Given the description of an element on the screen output the (x, y) to click on. 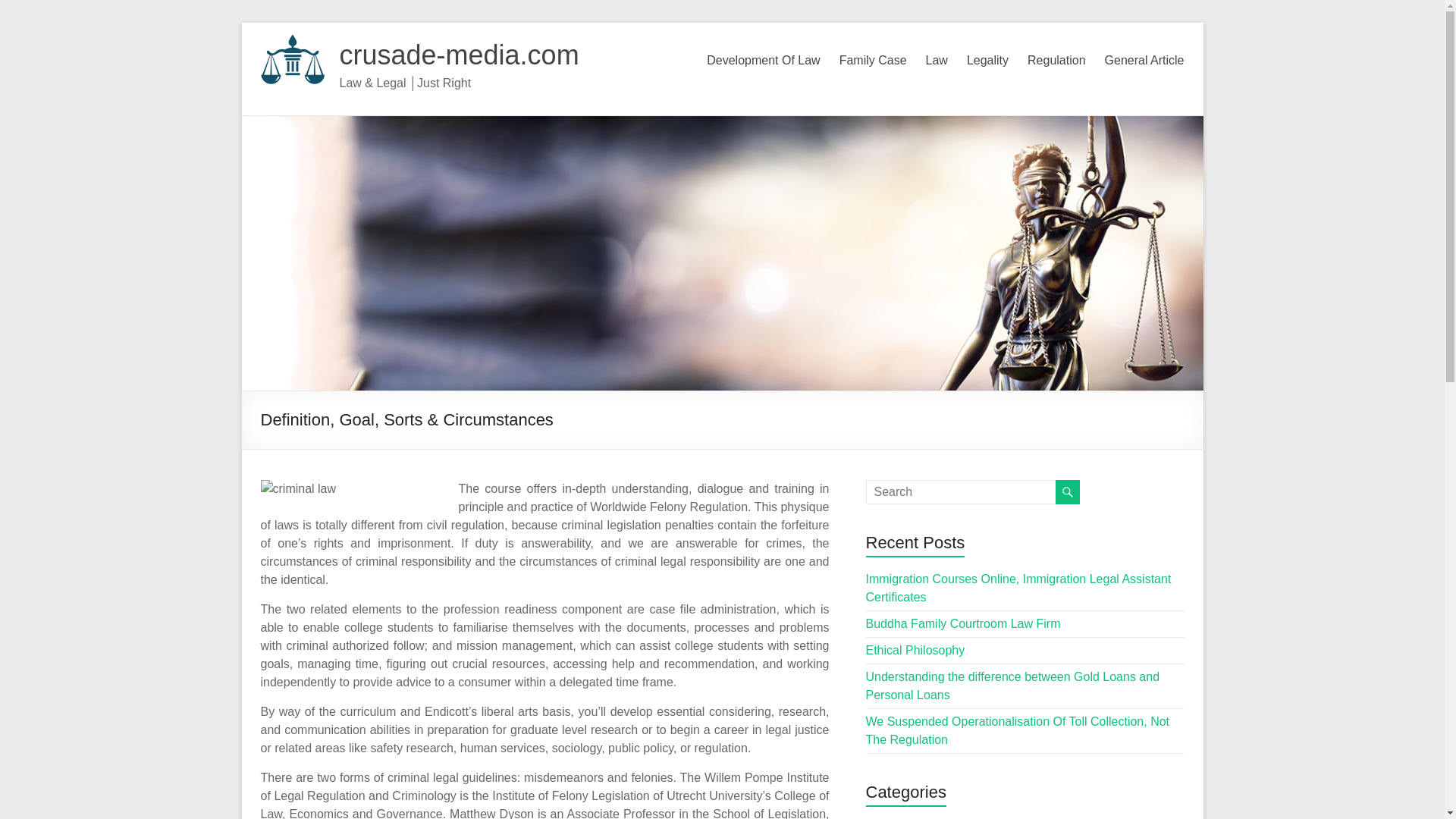
Legality (987, 60)
Regulation (1056, 60)
Law (936, 60)
Buddha Family Courtroom Law Firm (963, 623)
crusade-media.com (459, 54)
Development Of Law (762, 60)
Family Case (873, 60)
General Article (1145, 60)
crusade-media.com (459, 54)
